Given the description of an element on the screen output the (x, y) to click on. 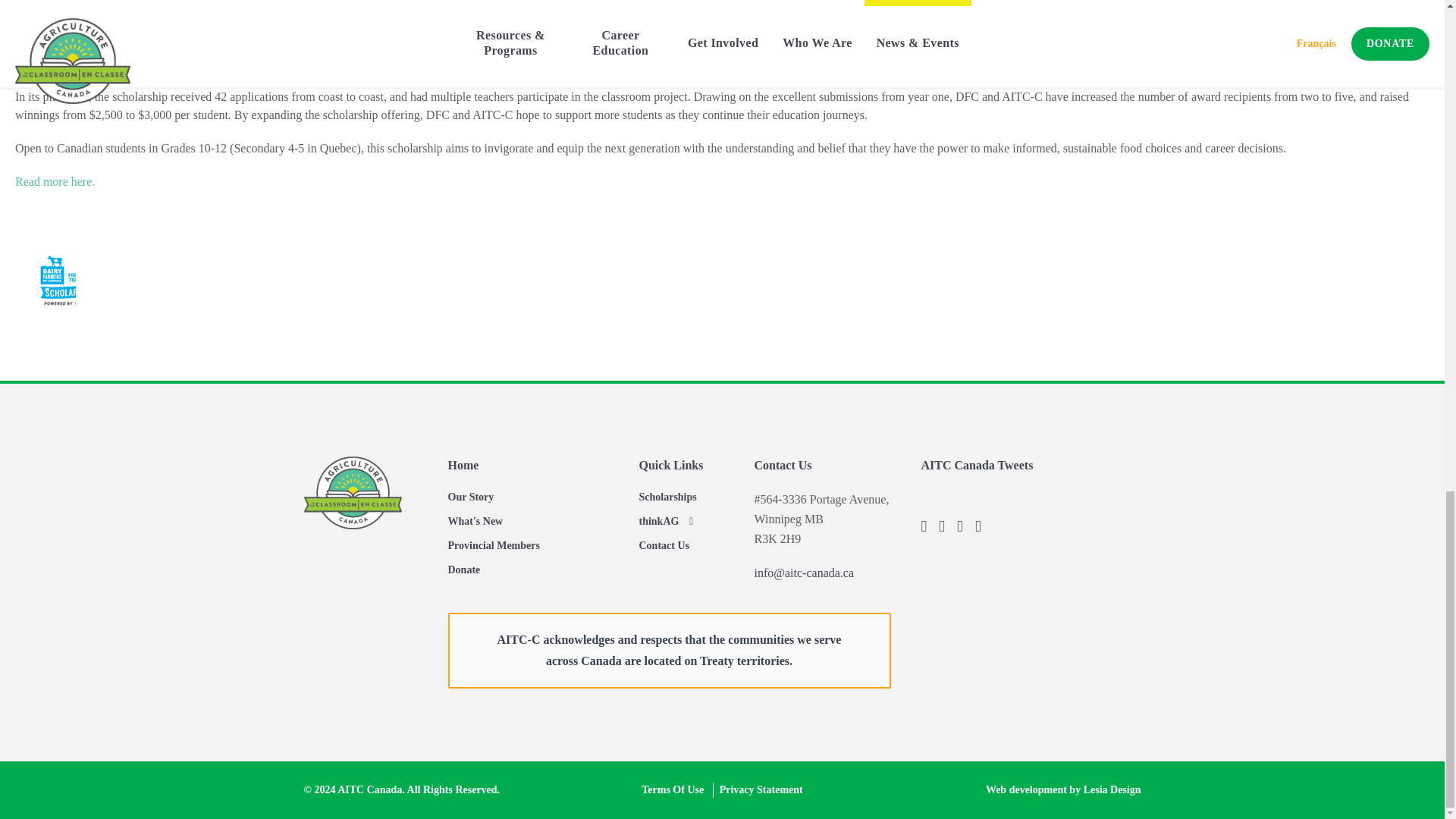
AITC Canada (351, 492)
